Given the description of an element on the screen output the (x, y) to click on. 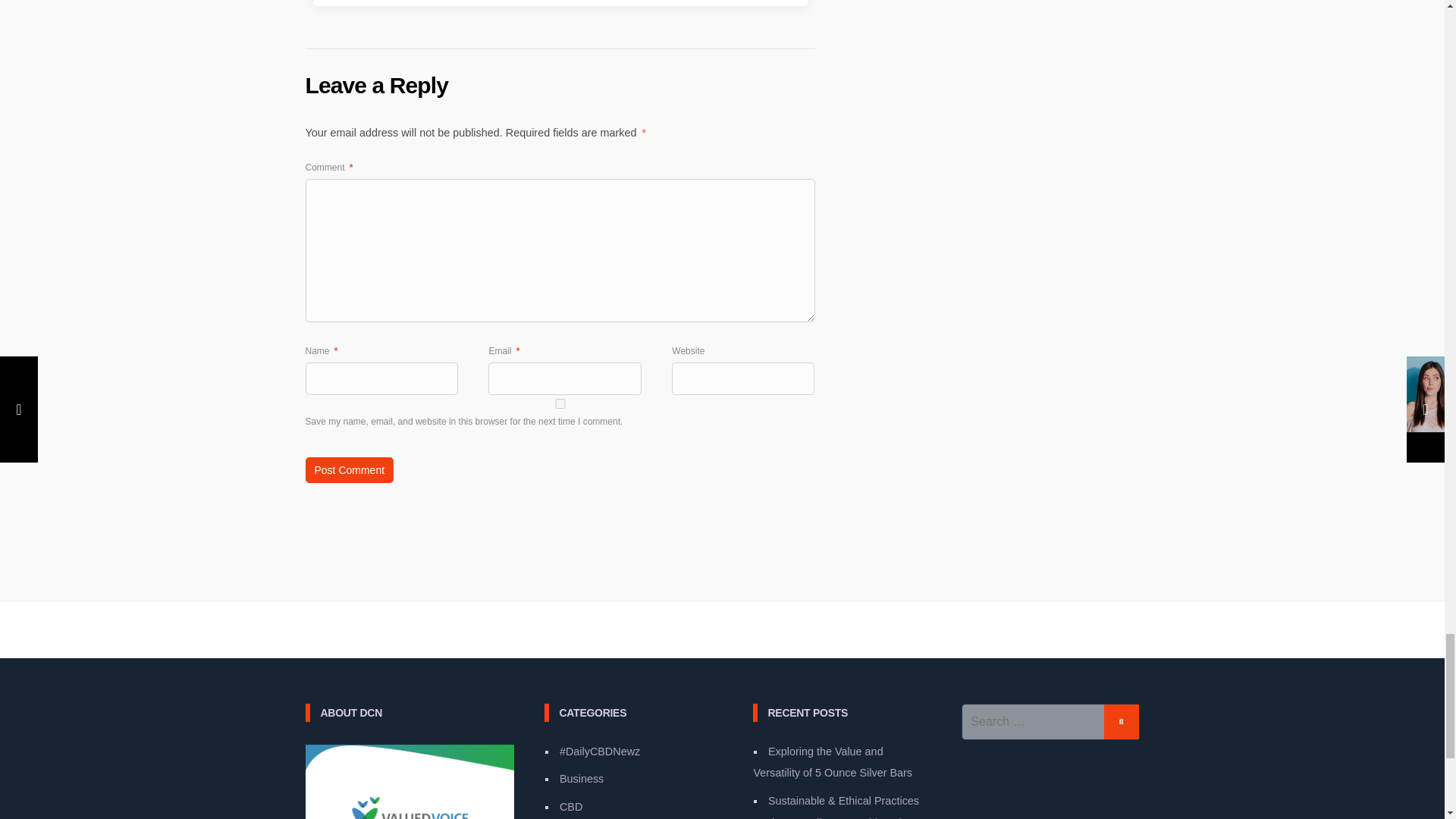
Post Comment (348, 470)
yes (558, 403)
Post Comment (348, 470)
